Given the description of an element on the screen output the (x, y) to click on. 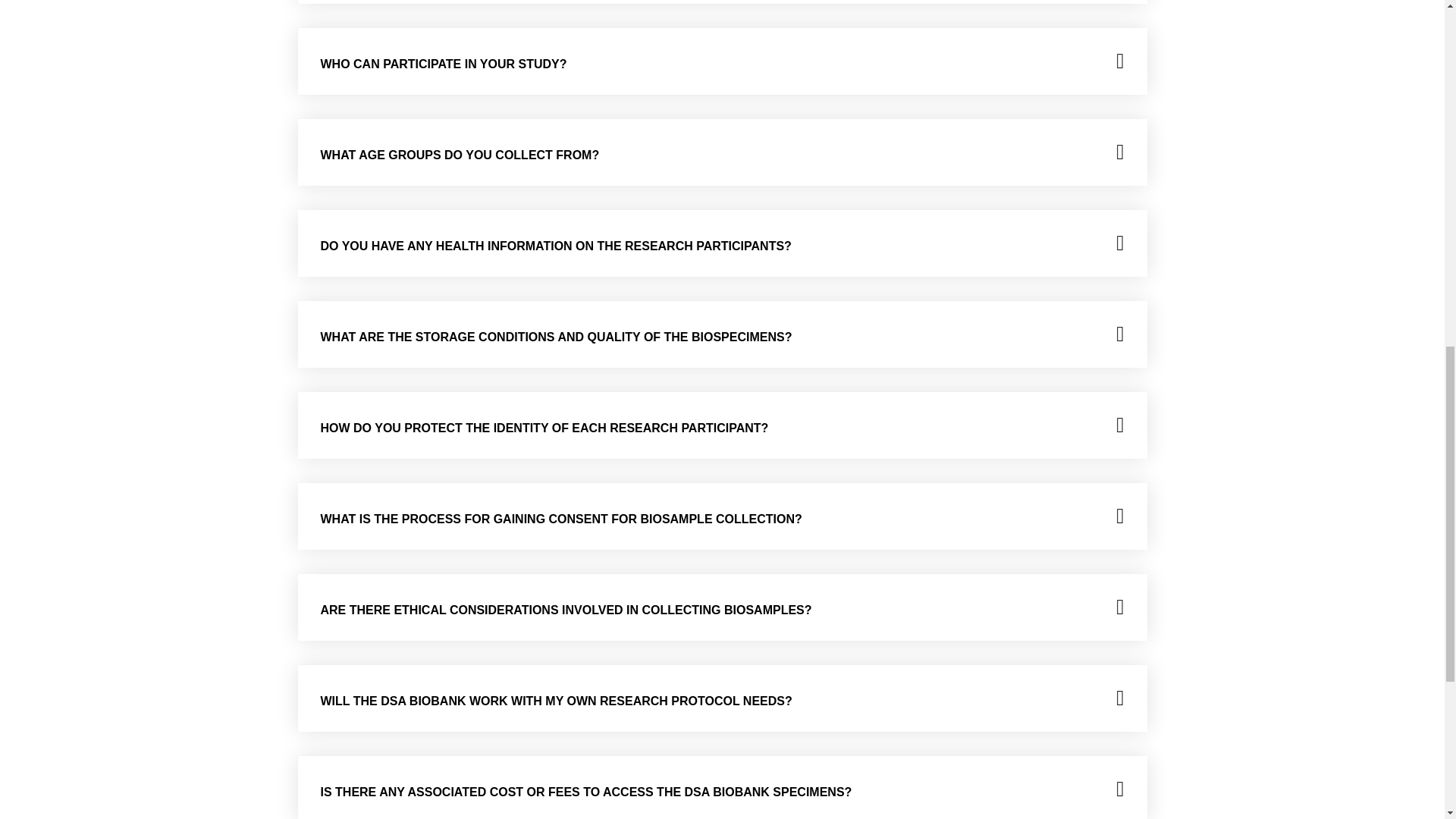
WHO CAN PARTICIPATE IN YOUR STUDY? (443, 63)
WHAT AGE GROUPS DO YOU COLLECT FROM? (459, 154)
